Given the description of an element on the screen output the (x, y) to click on. 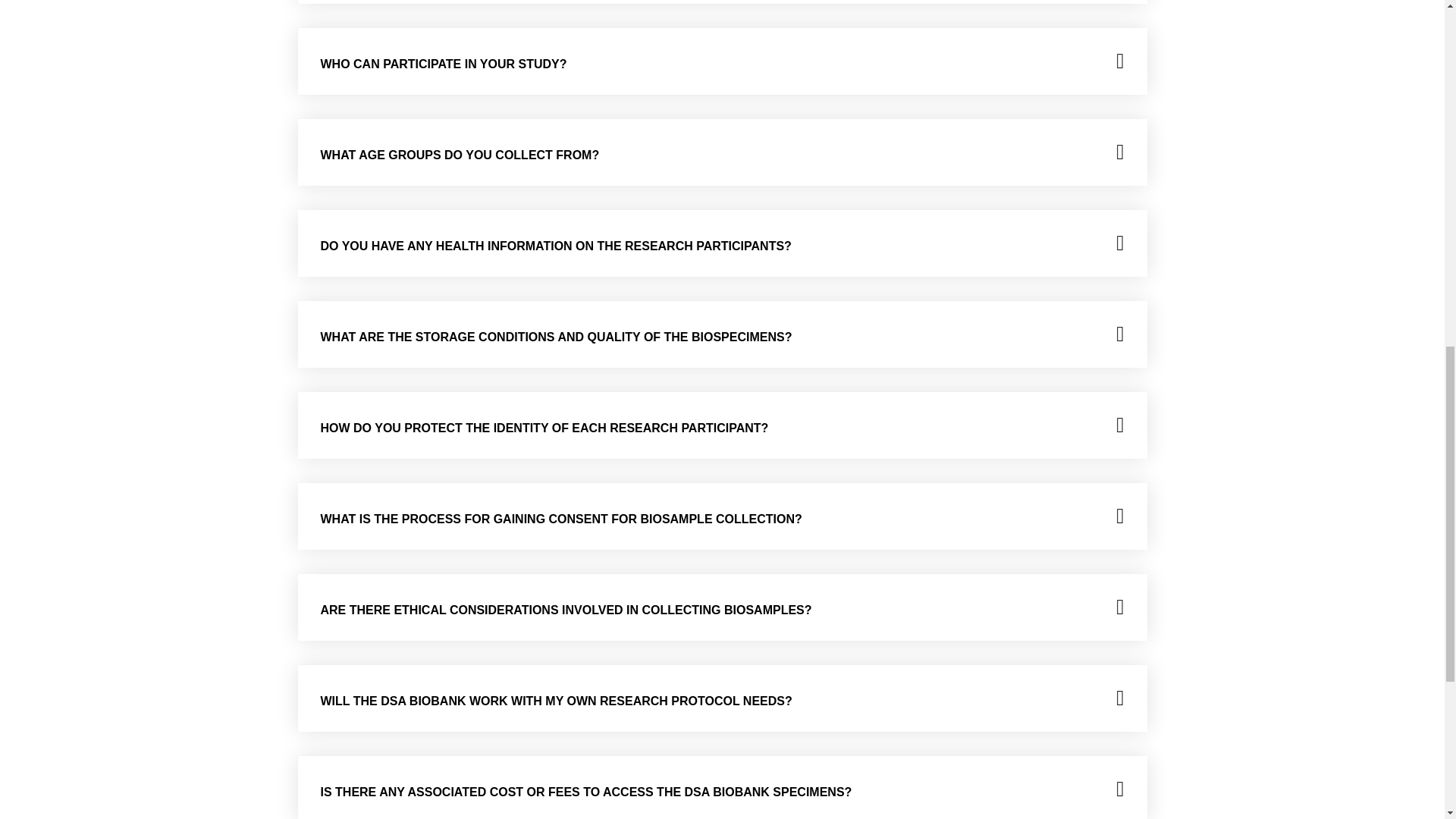
WHO CAN PARTICIPATE IN YOUR STUDY? (443, 63)
WHAT AGE GROUPS DO YOU COLLECT FROM? (459, 154)
